Given the description of an element on the screen output the (x, y) to click on. 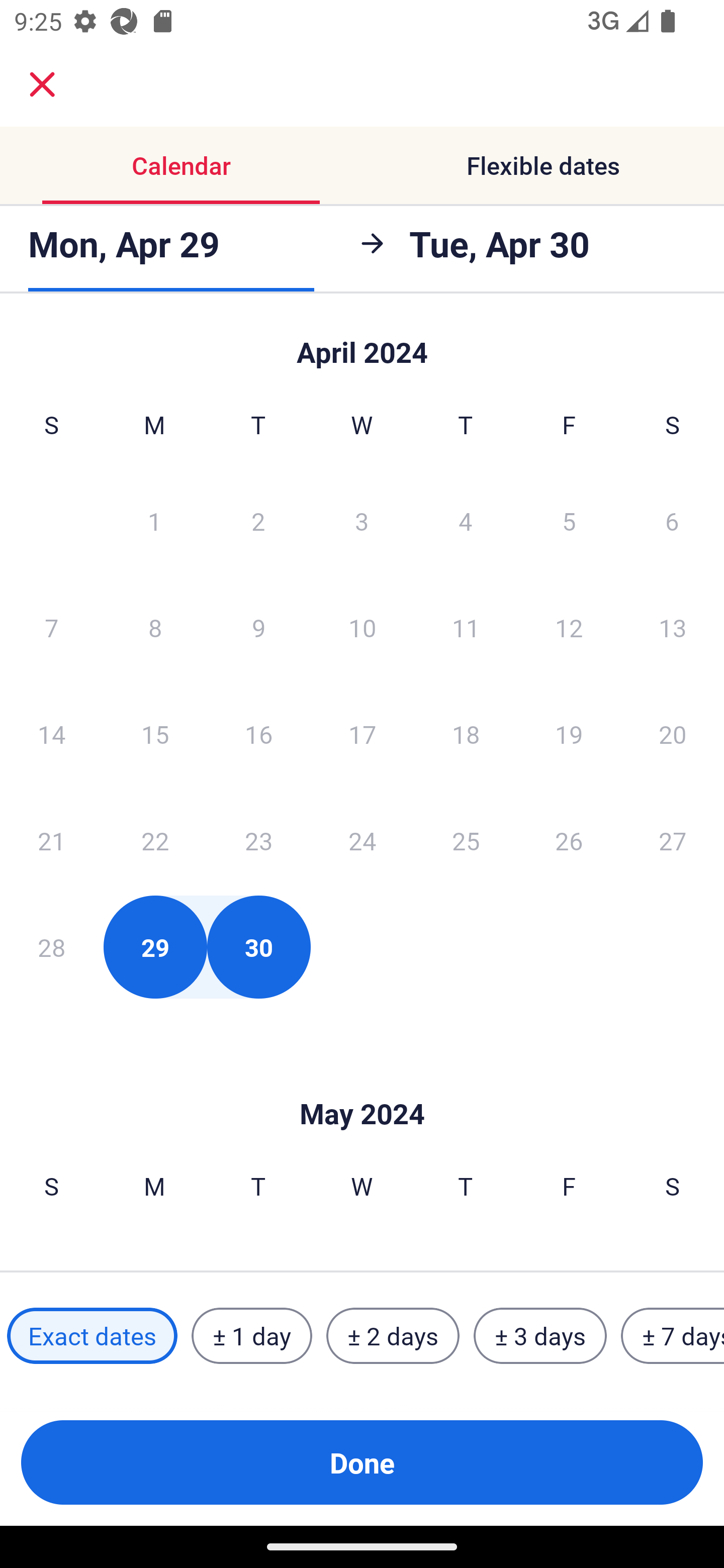
close. (42, 84)
Flexible dates (542, 164)
Skip to Done (362, 343)
1 Monday, April 1, 2024 (154, 520)
2 Tuesday, April 2, 2024 (257, 520)
3 Wednesday, April 3, 2024 (361, 520)
4 Thursday, April 4, 2024 (465, 520)
5 Friday, April 5, 2024 (568, 520)
6 Saturday, April 6, 2024 (672, 520)
7 Sunday, April 7, 2024 (51, 626)
8 Monday, April 8, 2024 (155, 626)
9 Tuesday, April 9, 2024 (258, 626)
10 Wednesday, April 10, 2024 (362, 626)
11 Thursday, April 11, 2024 (465, 626)
12 Friday, April 12, 2024 (569, 626)
13 Saturday, April 13, 2024 (672, 626)
14 Sunday, April 14, 2024 (51, 733)
15 Monday, April 15, 2024 (155, 733)
16 Tuesday, April 16, 2024 (258, 733)
17 Wednesday, April 17, 2024 (362, 733)
18 Thursday, April 18, 2024 (465, 733)
19 Friday, April 19, 2024 (569, 733)
20 Saturday, April 20, 2024 (672, 733)
21 Sunday, April 21, 2024 (51, 840)
22 Monday, April 22, 2024 (155, 840)
23 Tuesday, April 23, 2024 (258, 840)
24 Wednesday, April 24, 2024 (362, 840)
25 Thursday, April 25, 2024 (465, 840)
26 Friday, April 26, 2024 (569, 840)
27 Saturday, April 27, 2024 (672, 840)
28 Sunday, April 28, 2024 (51, 946)
Skip to Done (362, 1083)
Exact dates (92, 1335)
± 1 day (251, 1335)
± 2 days (392, 1335)
± 3 days (539, 1335)
± 7 days (672, 1335)
Done (361, 1462)
